Given the description of an element on the screen output the (x, y) to click on. 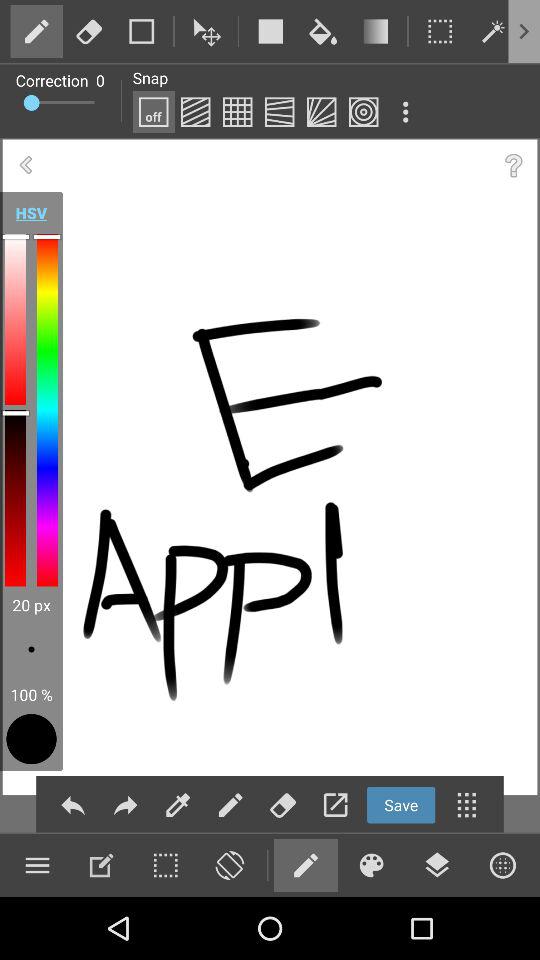
help (513, 165)
